Given the description of an element on the screen output the (x, y) to click on. 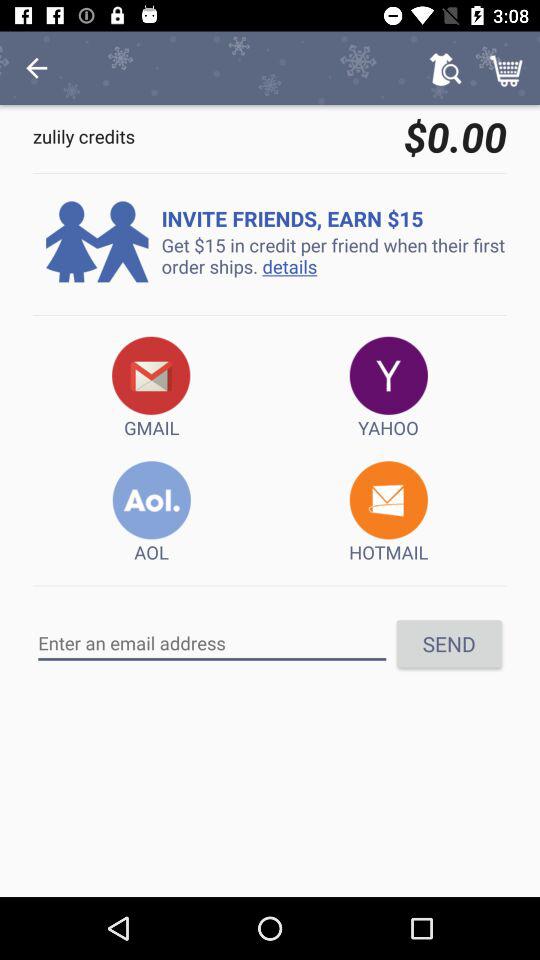
area to input email (212, 643)
